Given the description of an element on the screen output the (x, y) to click on. 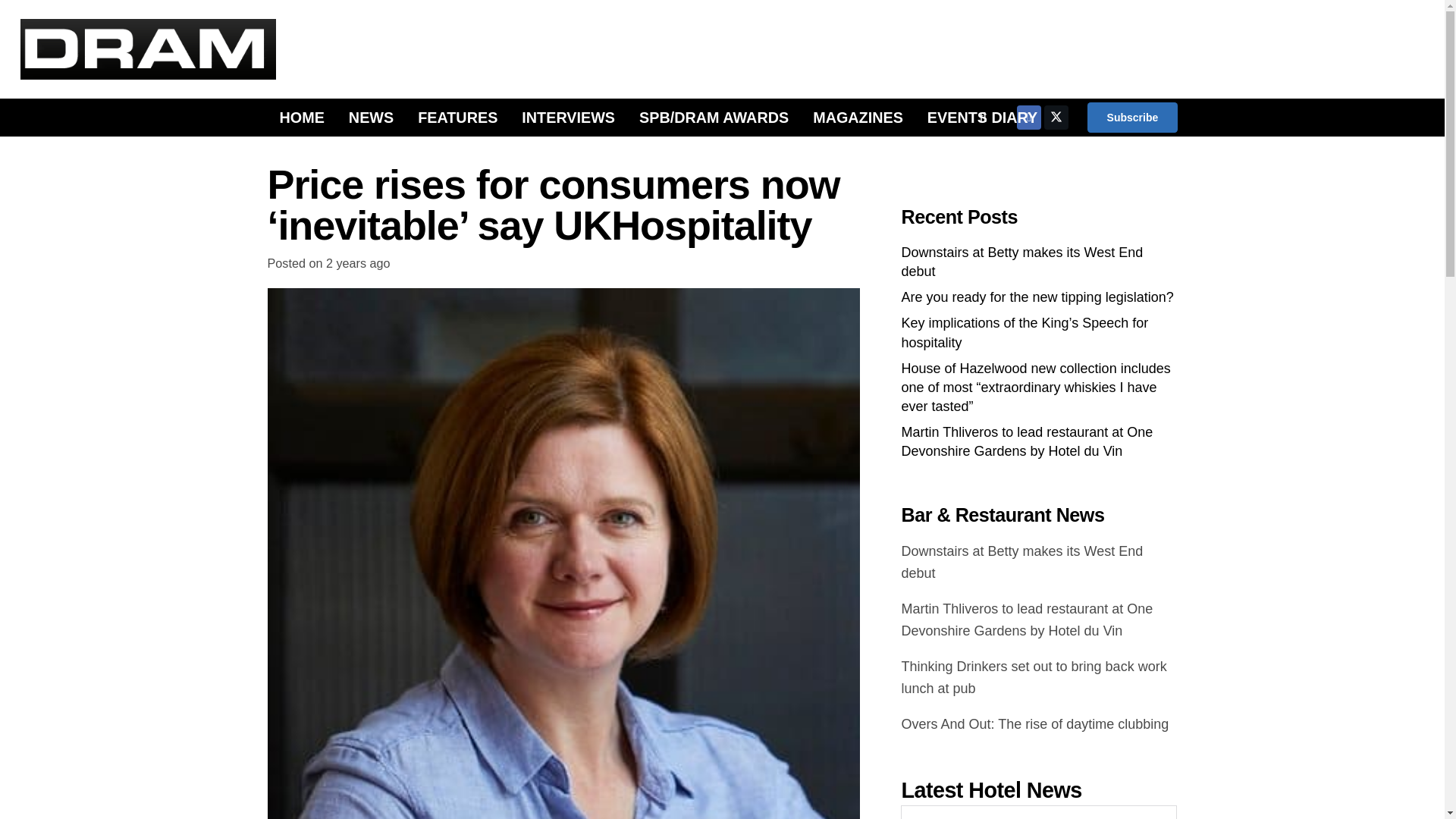
HOME (301, 117)
Downstairs at Betty makes its West End debut (1021, 261)
NEWS (371, 117)
Facebook (1028, 117)
FEATURES (457, 117)
EVENTS DIARY (982, 117)
Subscribe (1131, 116)
Are you ready for the new tipping legislation? (1037, 296)
Twitter (1055, 117)
MAGAZINES (857, 117)
INTERVIEWS (568, 117)
